Given the description of an element on the screen output the (x, y) to click on. 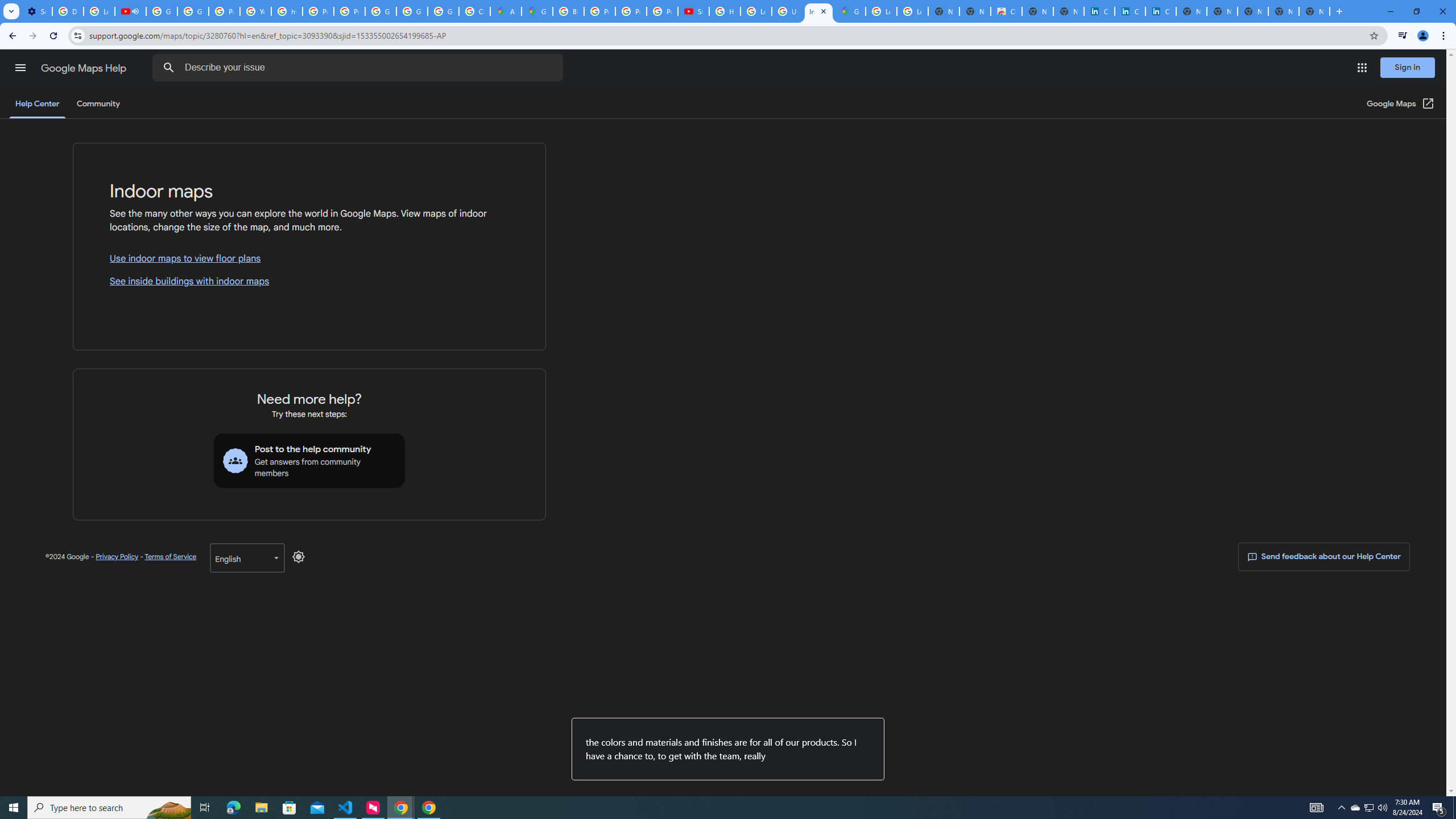
Google Maps Help (84, 68)
Delete photos & videos - Computer - Google Photos Help (67, 11)
Use indoor maps to view floor plans (309, 258)
Privacy Help Center - Policies Help (223, 11)
How Chrome protects your passwords - Google Chrome Help (724, 11)
Subscriptions - YouTube (693, 11)
 Send feedback about our Help Center (1323, 556)
Chrome Web Store (1005, 11)
Blogger Policies and Guidelines - Transparency Center (568, 11)
